Given the description of an element on the screen output the (x, y) to click on. 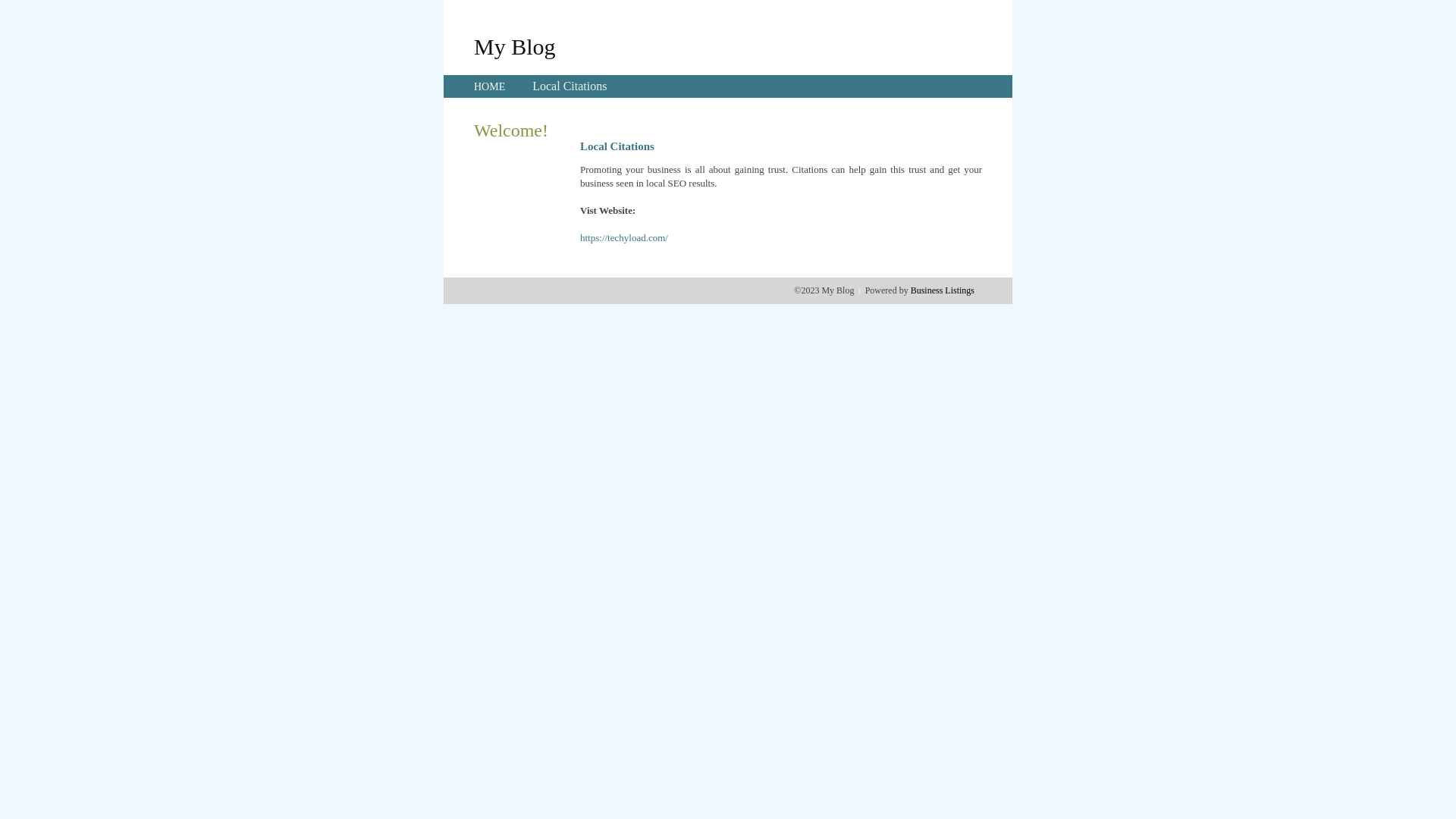
My Blog Element type: text (514, 46)
Business Listings Element type: text (942, 290)
HOME Element type: text (489, 86)
https://techyload.com/ Element type: text (624, 237)
Local Citations Element type: text (569, 85)
